Given the description of an element on the screen output the (x, y) to click on. 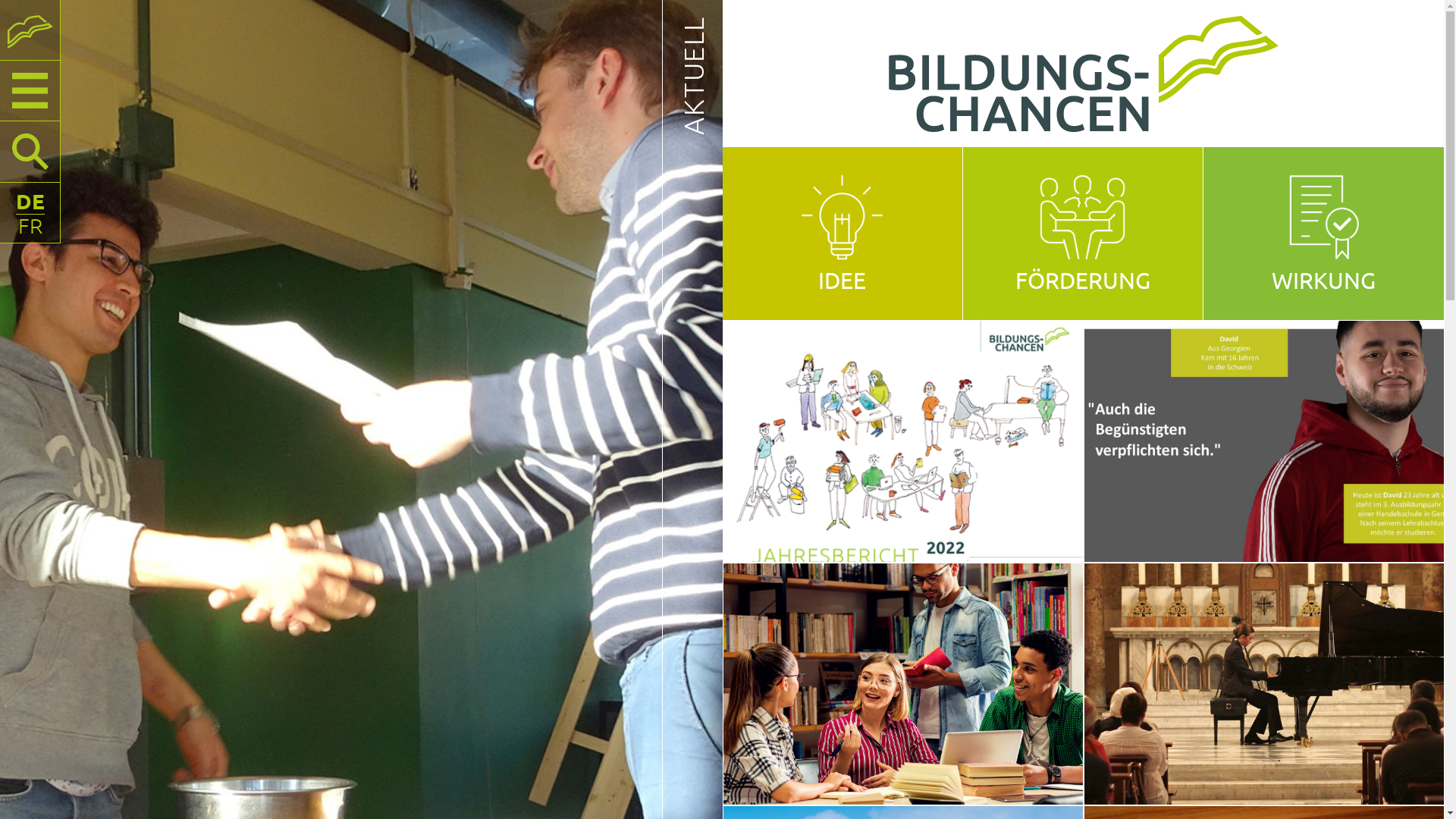
DE Element type: text (29, 200)
IDEE Element type: text (842, 279)
Bildungschancen Element type: hover (30, 31)
FR Element type: text (30, 225)
WIRKUNG Element type: text (1323, 279)
